Given the description of an element on the screen output the (x, y) to click on. 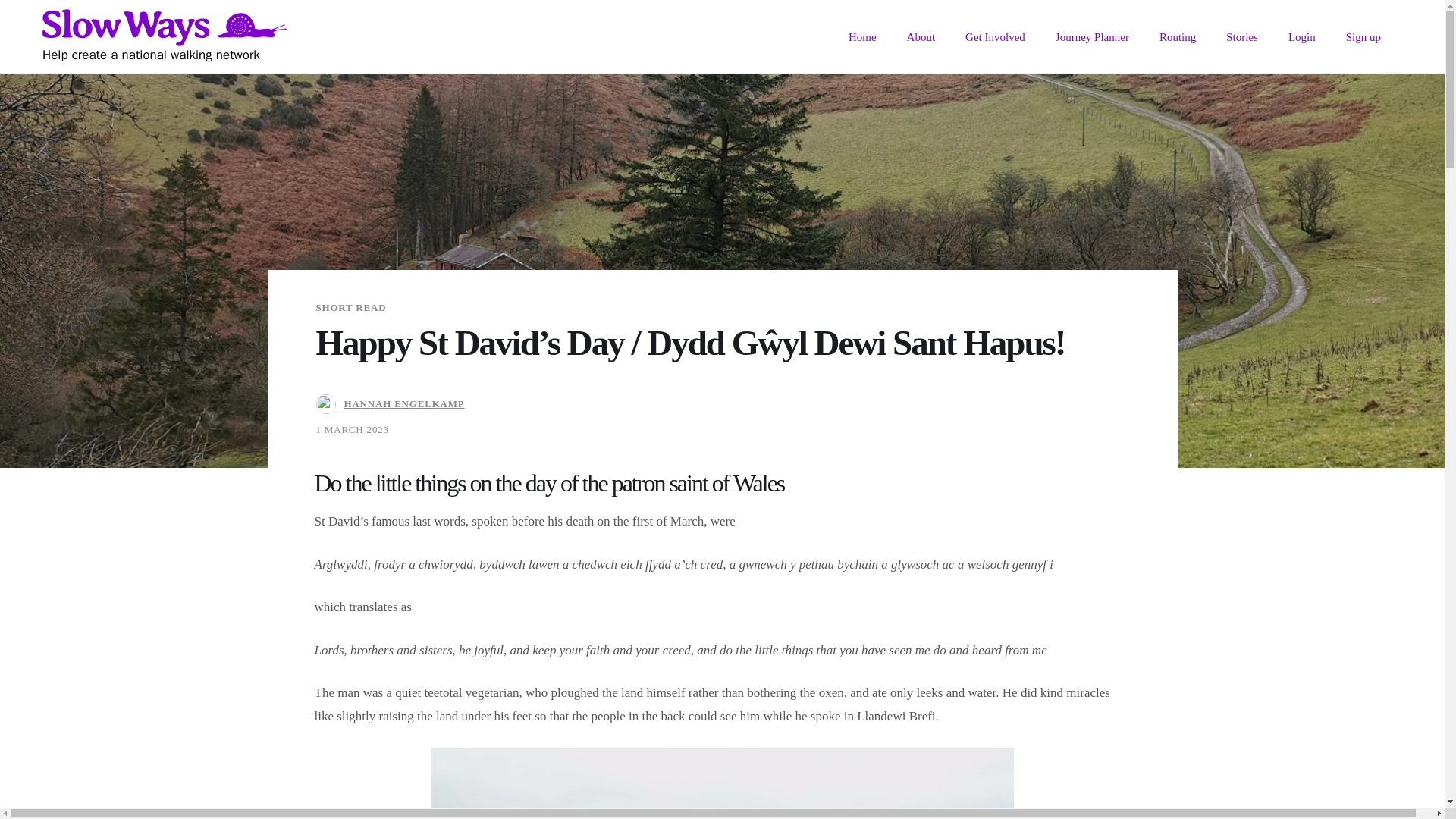
HANNAH ENGELKAMP (403, 404)
Help create a national walking network (164, 36)
Journey Planner (1092, 36)
Get Involved (994, 36)
Hannah Engelkamp (327, 403)
SHORT READ (350, 307)
